Given the description of an element on the screen output the (x, y) to click on. 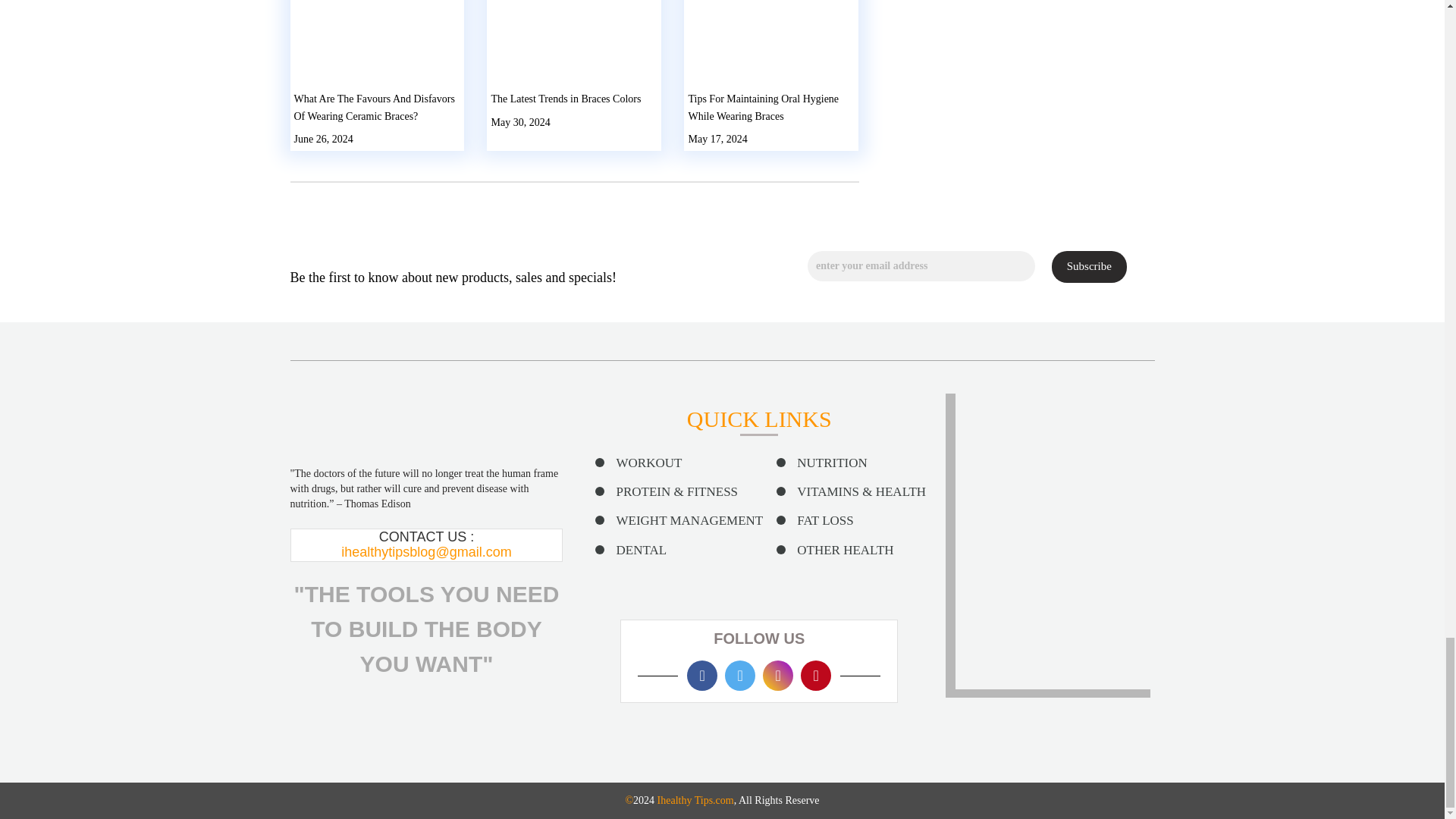
The Latest Trends in Braces Colors (565, 98)
Tips For Maintaining Oral Hygiene While Wearing Braces (762, 107)
Subscribe (1088, 265)
